Given the description of an element on the screen output the (x, y) to click on. 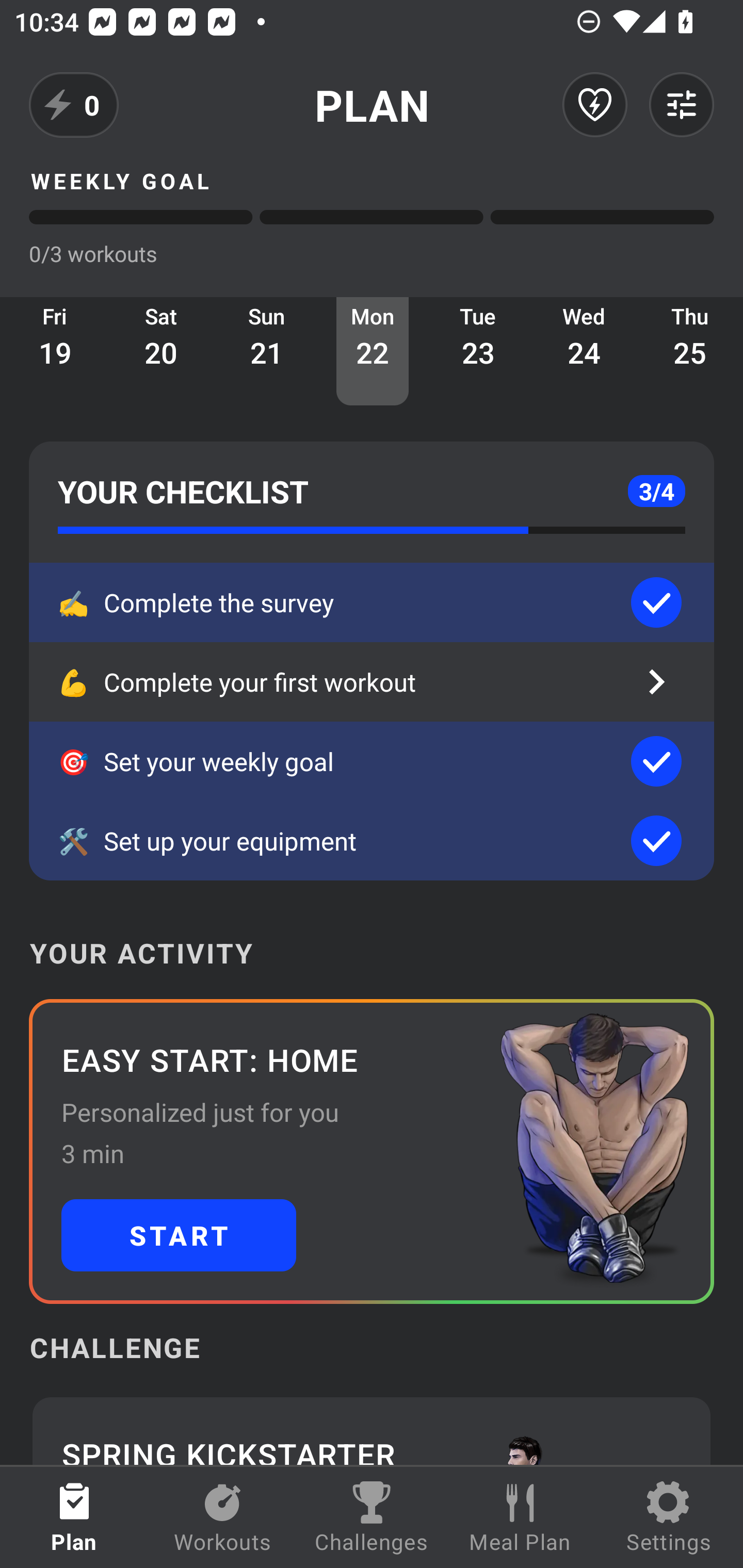
0 (73, 104)
Fri 19 (55, 351)
Sat 20 (160, 351)
Sun 21 (266, 351)
Mon 22 (372, 351)
Tue 23 (478, 351)
Wed 24 (584, 351)
Thu 25 (690, 351)
💪 Complete your first workout (371, 681)
START (178, 1235)
 Workouts  (222, 1517)
 Challenges  (371, 1517)
 Meal Plan  (519, 1517)
 Settings  (668, 1517)
